Given the description of an element on the screen output the (x, y) to click on. 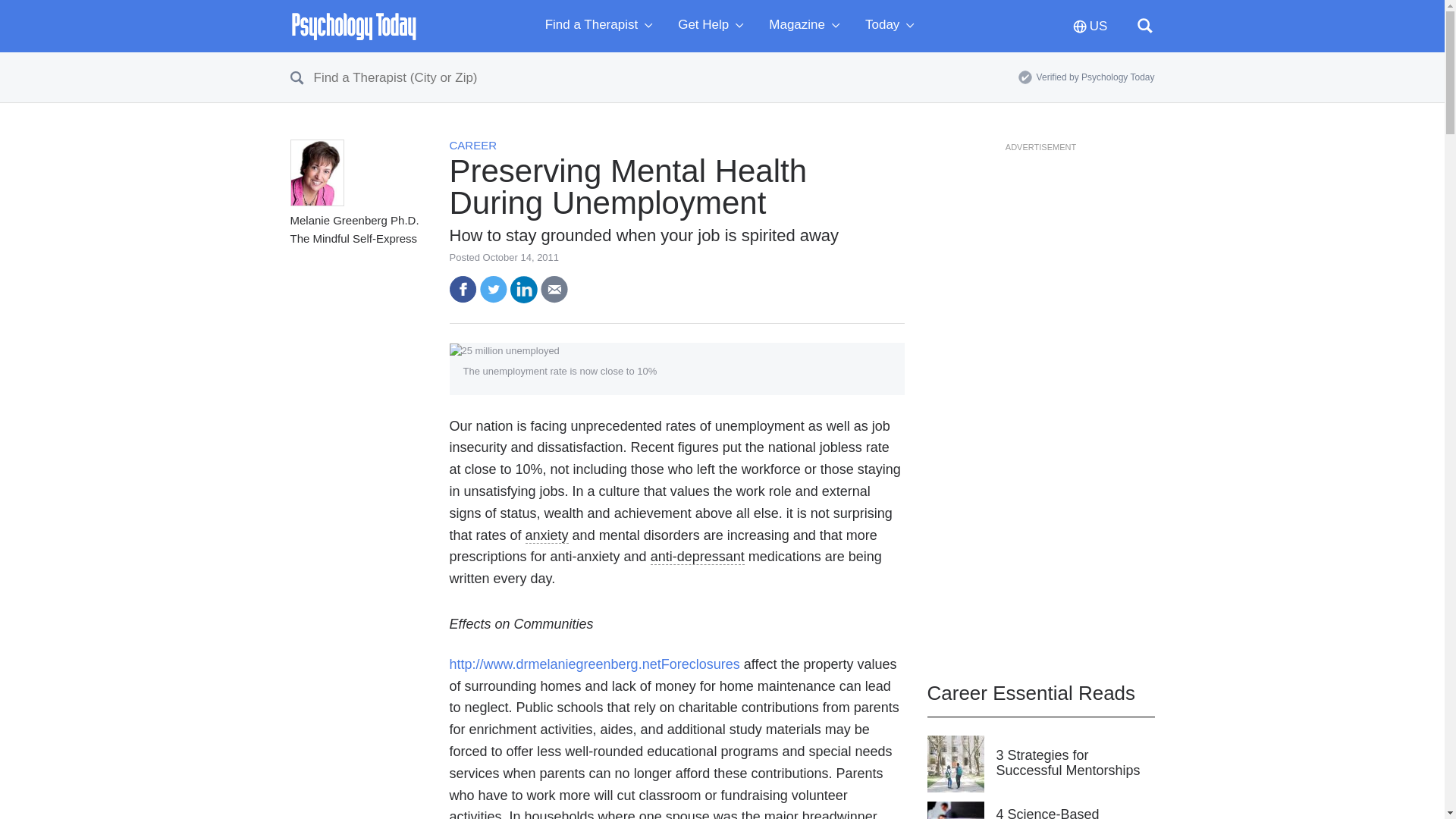
Get Help (714, 25)
Psychology Today (352, 25)
Find a Therapist (602, 25)
